Given the description of an element on the screen output the (x, y) to click on. 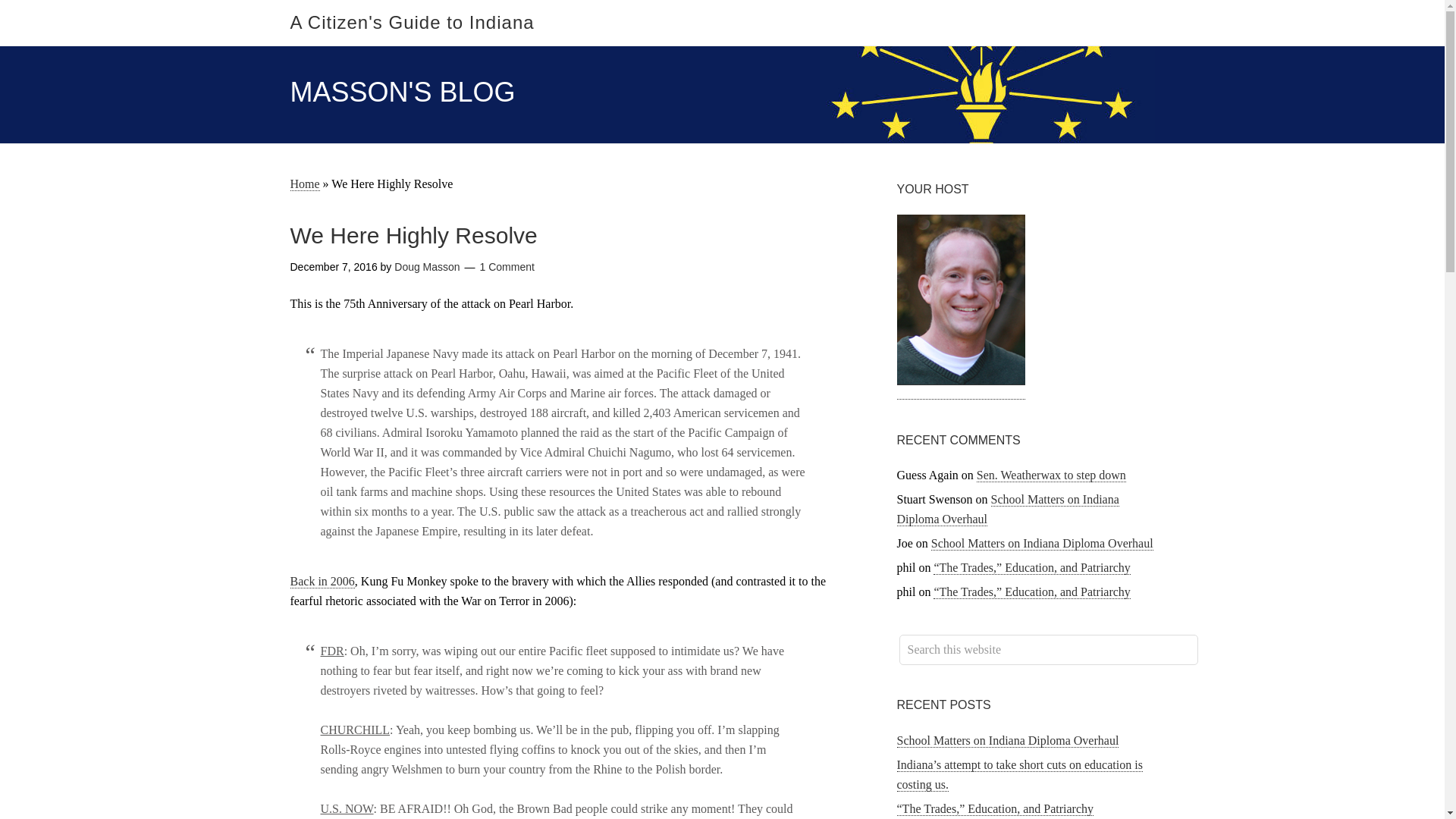
Home (303, 183)
A Citizen's Guide to Indiana (411, 22)
School Matters on Indiana Diploma Overhaul (1042, 543)
1 Comment (507, 266)
Back in 2006 (321, 581)
Doug Masson (427, 266)
School Matters on Indiana Diploma Overhaul (1007, 509)
